Given the description of an element on the screen output the (x, y) to click on. 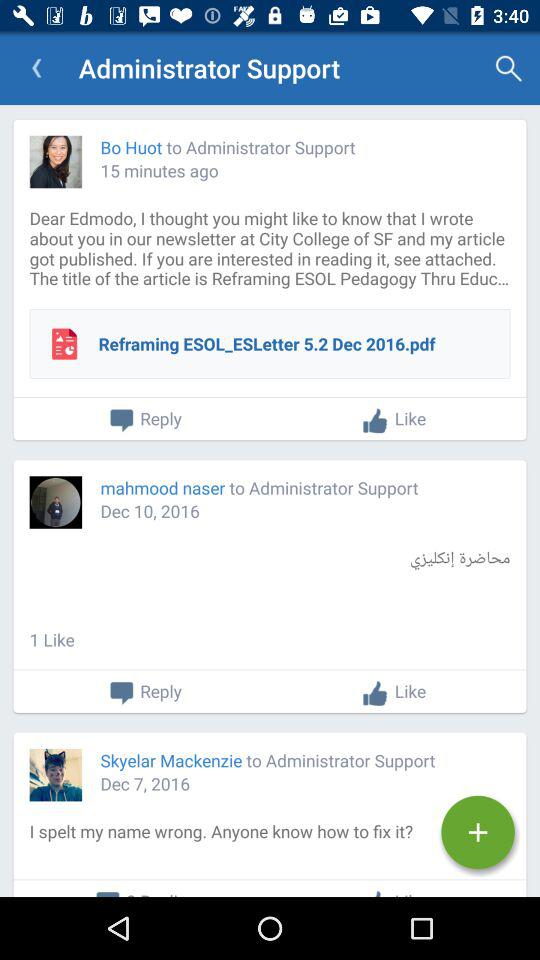
go to reply (145, 692)
select the text right to reply which is below mahmood naser to administrator support (394, 692)
select pdf icon above reply on the page (64, 344)
